Given the description of an element on the screen output the (x, y) to click on. 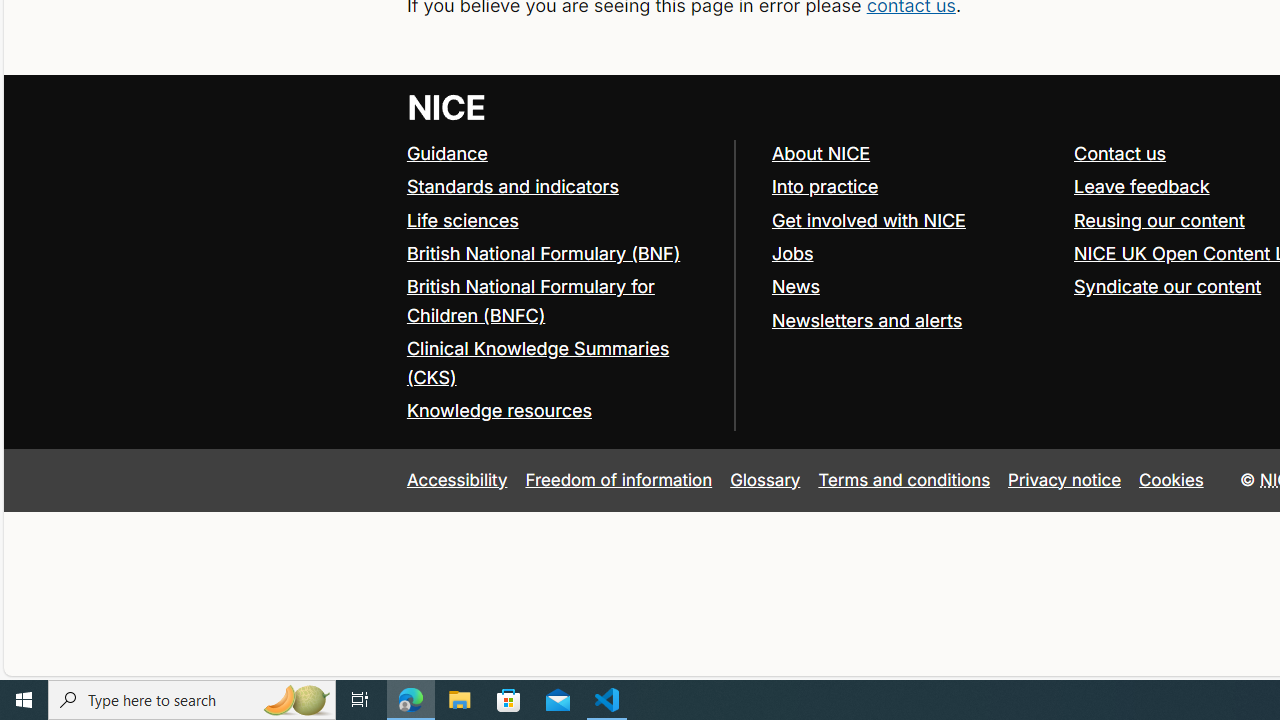
Terms and conditions (903, 479)
Freedom of information (618, 479)
Newsletters and alerts (866, 319)
Go to NICE home page (445, 106)
Get involved with NICE (913, 220)
Cookies (1171, 479)
Glossary (765, 479)
Contact us (1120, 152)
Glossary (765, 479)
Jobs (792, 252)
Guidance (560, 153)
Syndicate our content (1167, 285)
Knowledge resources (498, 410)
